Given the description of an element on the screen output the (x, y) to click on. 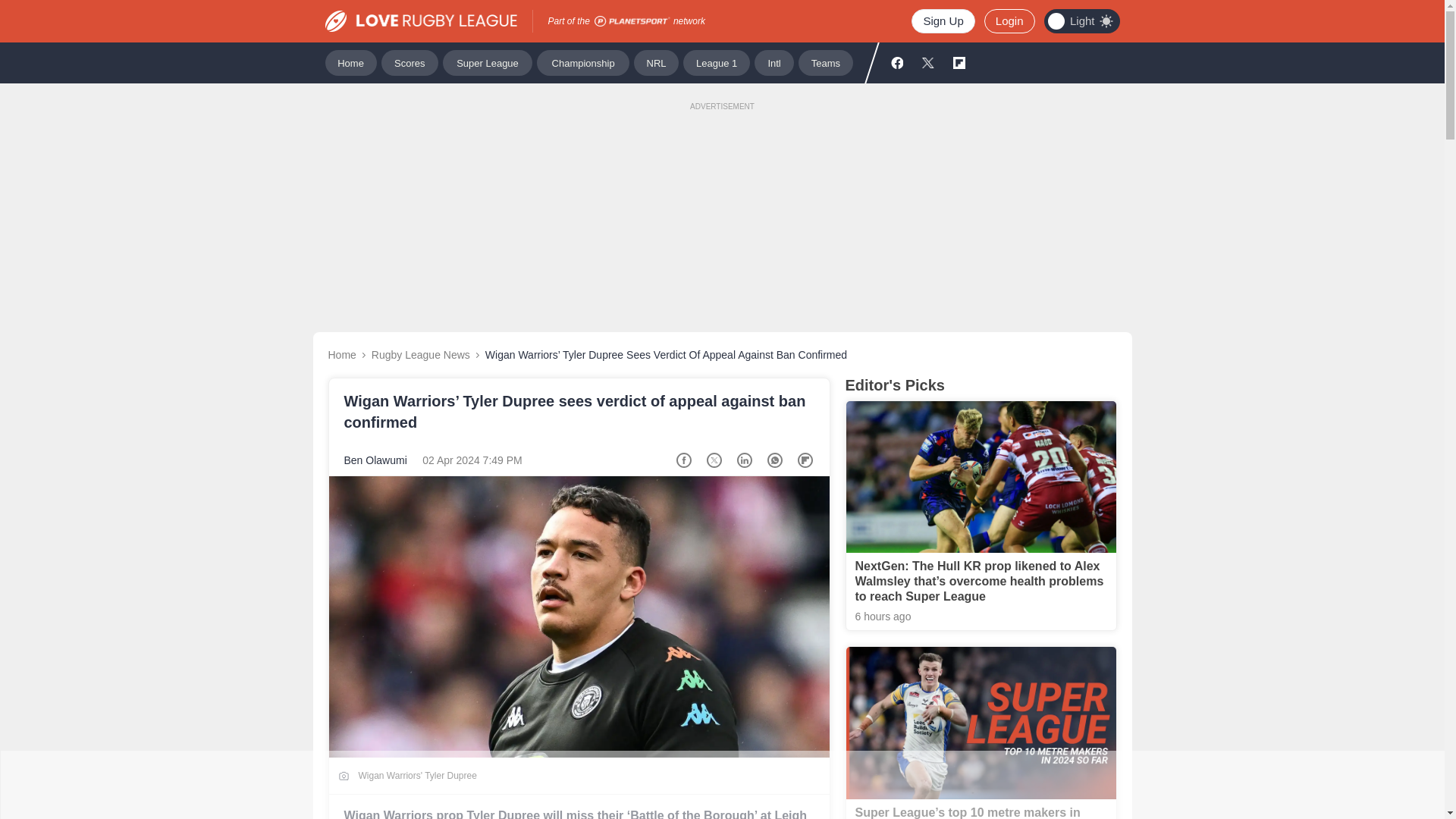
Scores (409, 62)
Home (349, 62)
Home (341, 354)
Rugby League News (420, 354)
NRL (655, 62)
Championship (582, 62)
3rd party ad content (721, 785)
Super League (487, 62)
Login (1009, 21)
League 1 (715, 62)
Ben Olawumi (375, 460)
Teams (825, 62)
Intl (773, 62)
Sign Up (942, 21)
3rd party ad content (721, 203)
